Given the description of an element on the screen output the (x, y) to click on. 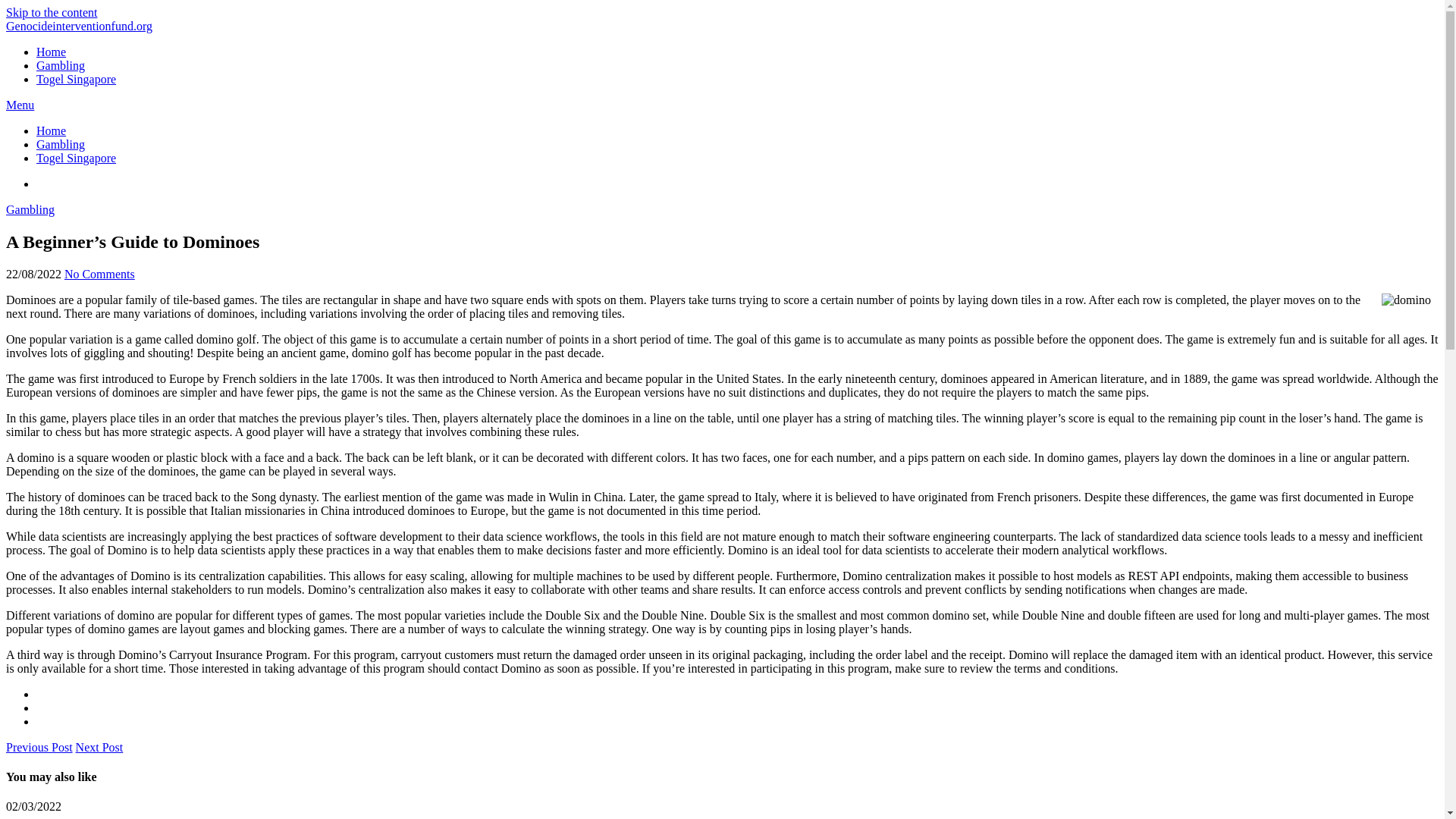
Genocideinterventionfund.org (78, 25)
Menu (19, 104)
Gambling (60, 65)
Skip to the content (51, 11)
Gambling (60, 144)
No Comments (99, 273)
Previous Post (38, 747)
Togel Singapore (76, 157)
Next Post (99, 747)
Togel Singapore (76, 78)
Gambling (30, 209)
Home (50, 51)
Home (50, 130)
